Given the description of an element on the screen output the (x, y) to click on. 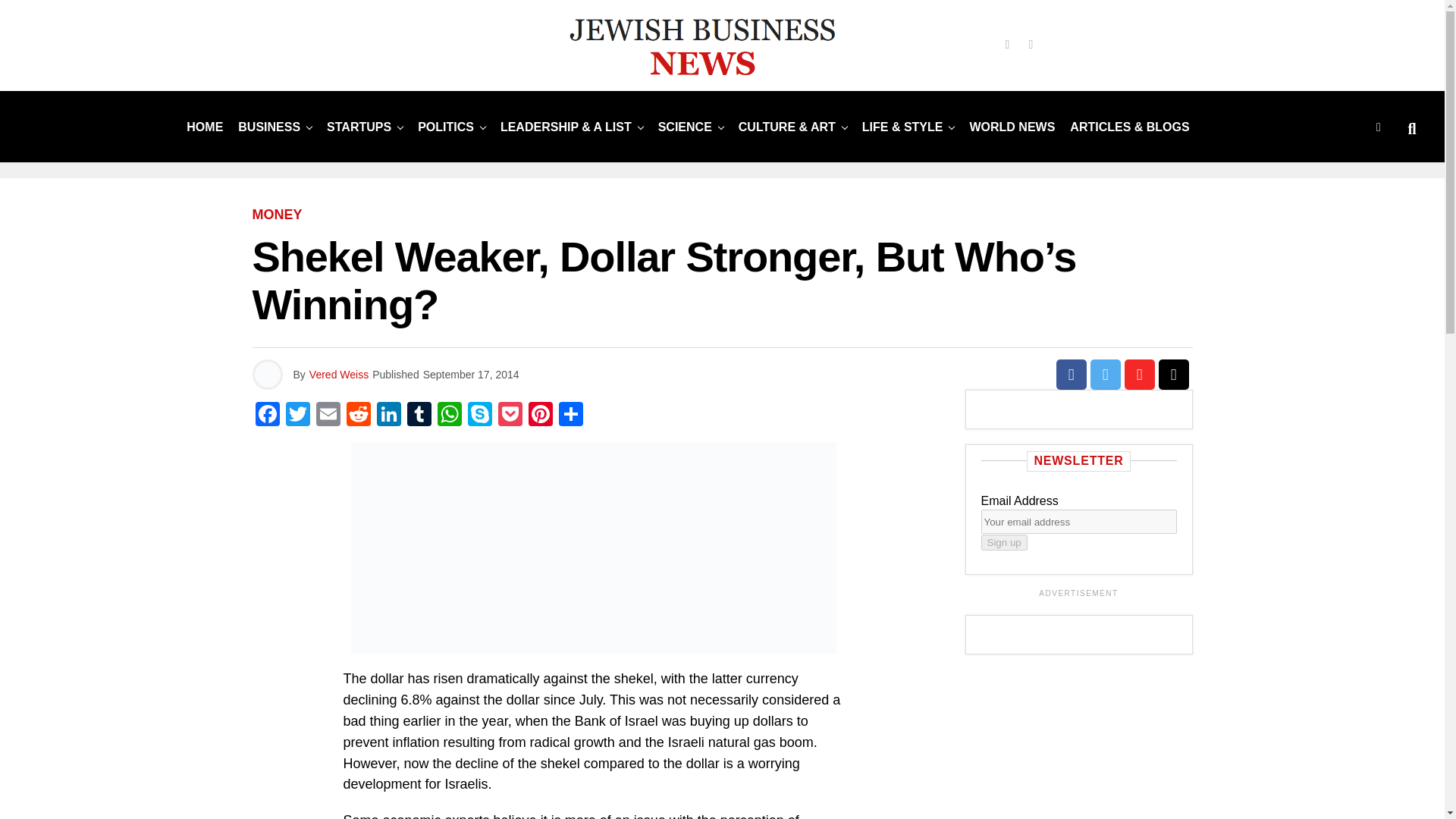
Tweet This Post (1105, 374)
New Research (684, 126)
Share on Facebook (1070, 374)
WhatsApp (448, 415)
Email (327, 415)
Twitter (297, 415)
Share on Flipboard (1139, 374)
LinkedIn (387, 415)
Posts by Vered Weiss (338, 374)
Sign up (1004, 542)
